Given the description of an element on the screen output the (x, y) to click on. 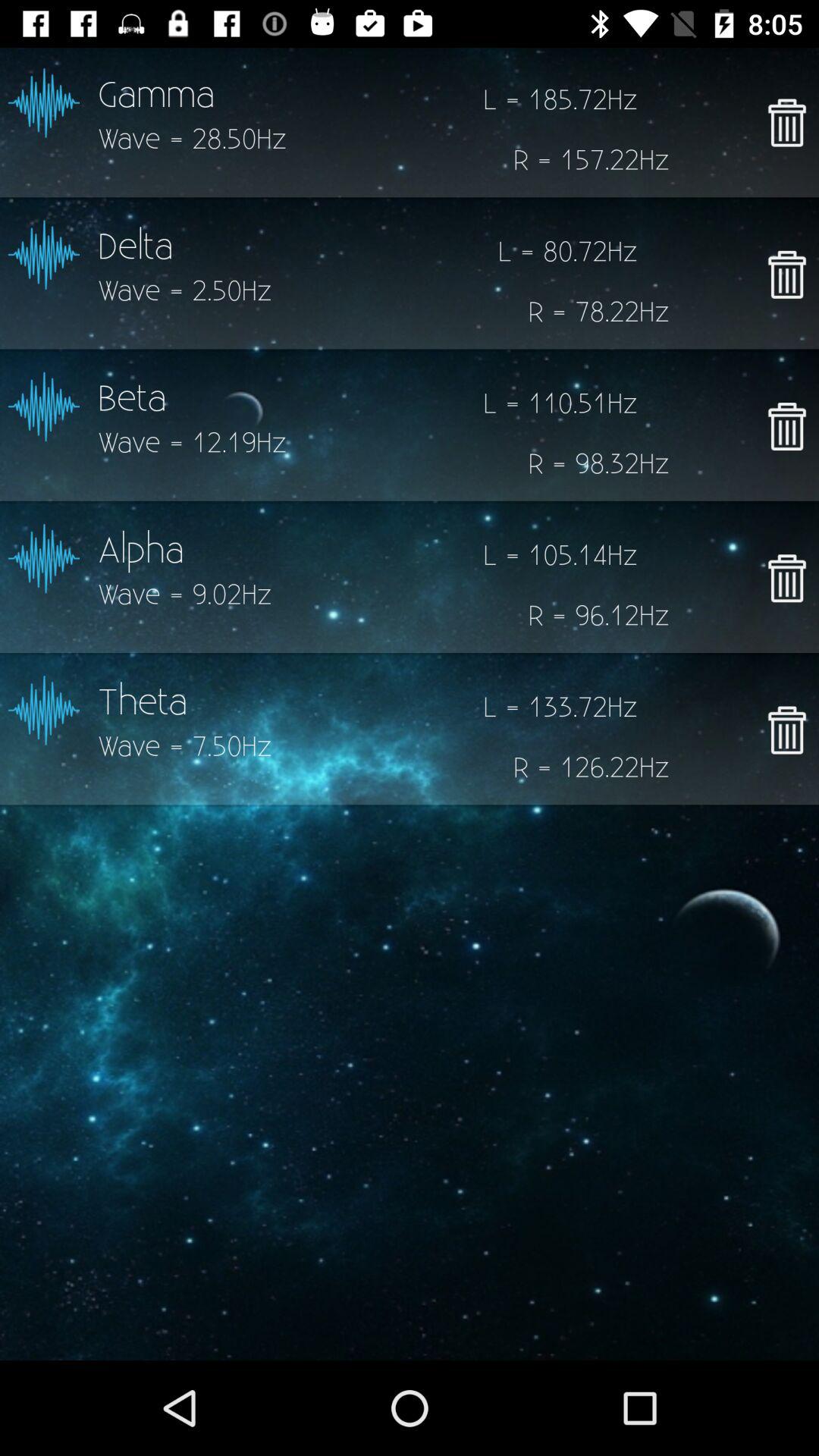
deleted (787, 577)
